Given the description of an element on the screen output the (x, y) to click on. 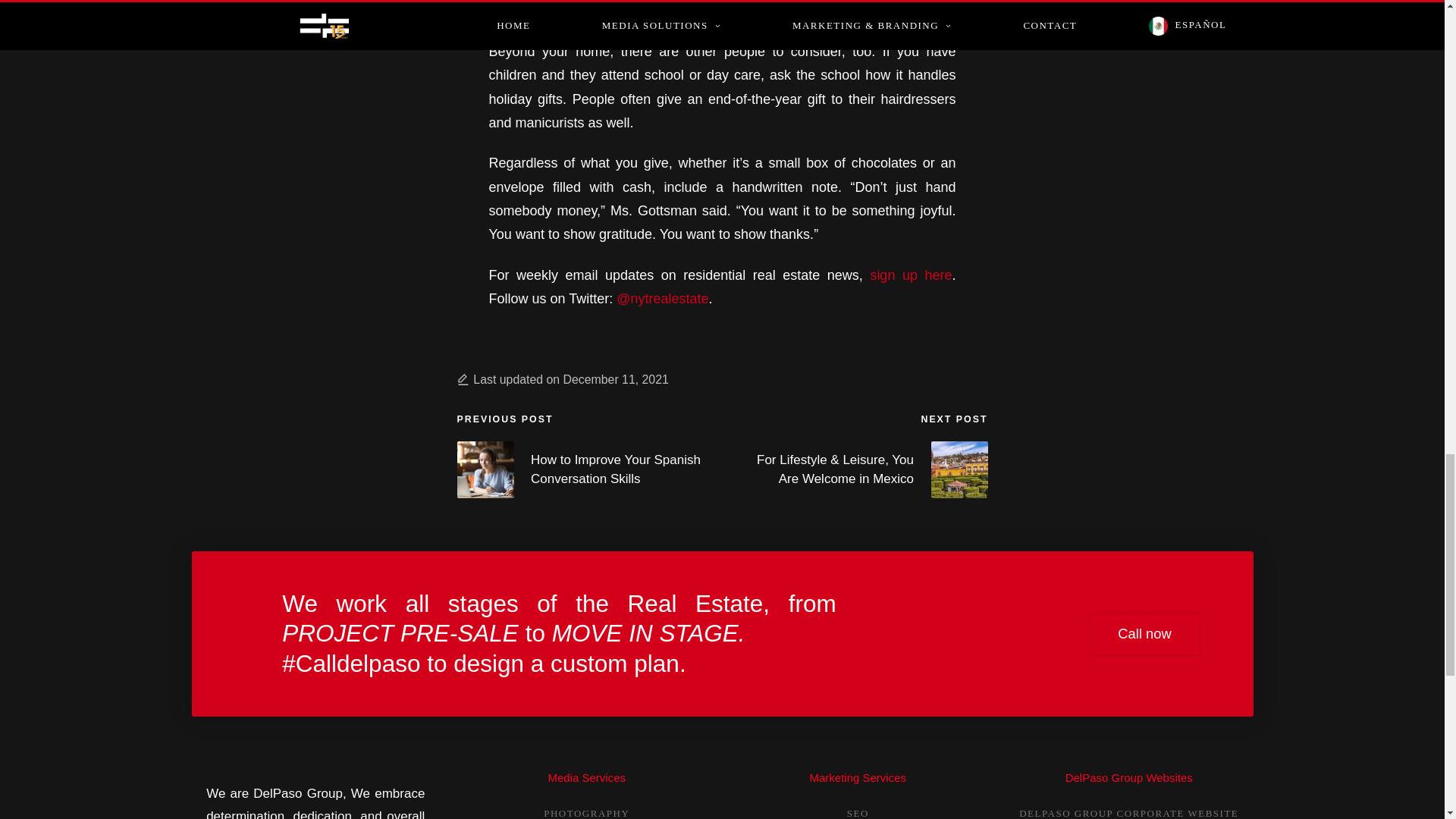
sign up here (910, 274)
How to Improve Your Spanish Conversation Skills (589, 469)
PHOTOGRAPHY (585, 813)
Call now (1144, 634)
